Given the description of an element on the screen output the (x, y) to click on. 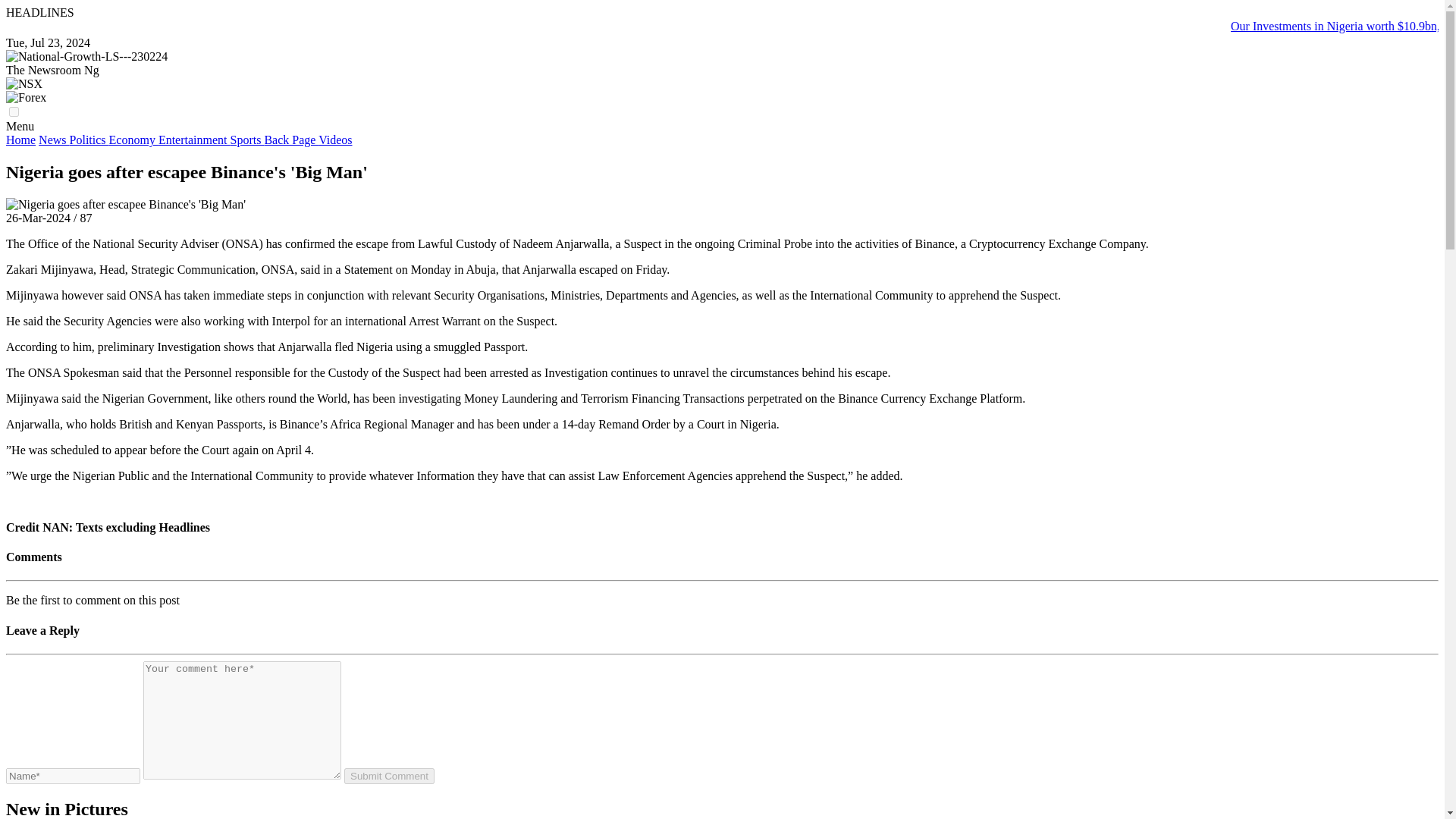
Sports (247, 139)
Submit Comment (388, 775)
Economy (133, 139)
Videos (335, 139)
Back Page (290, 139)
Home (19, 139)
on (13, 112)
Entertainment (194, 139)
Politics (89, 139)
News (53, 139)
